Given the description of an element on the screen output the (x, y) to click on. 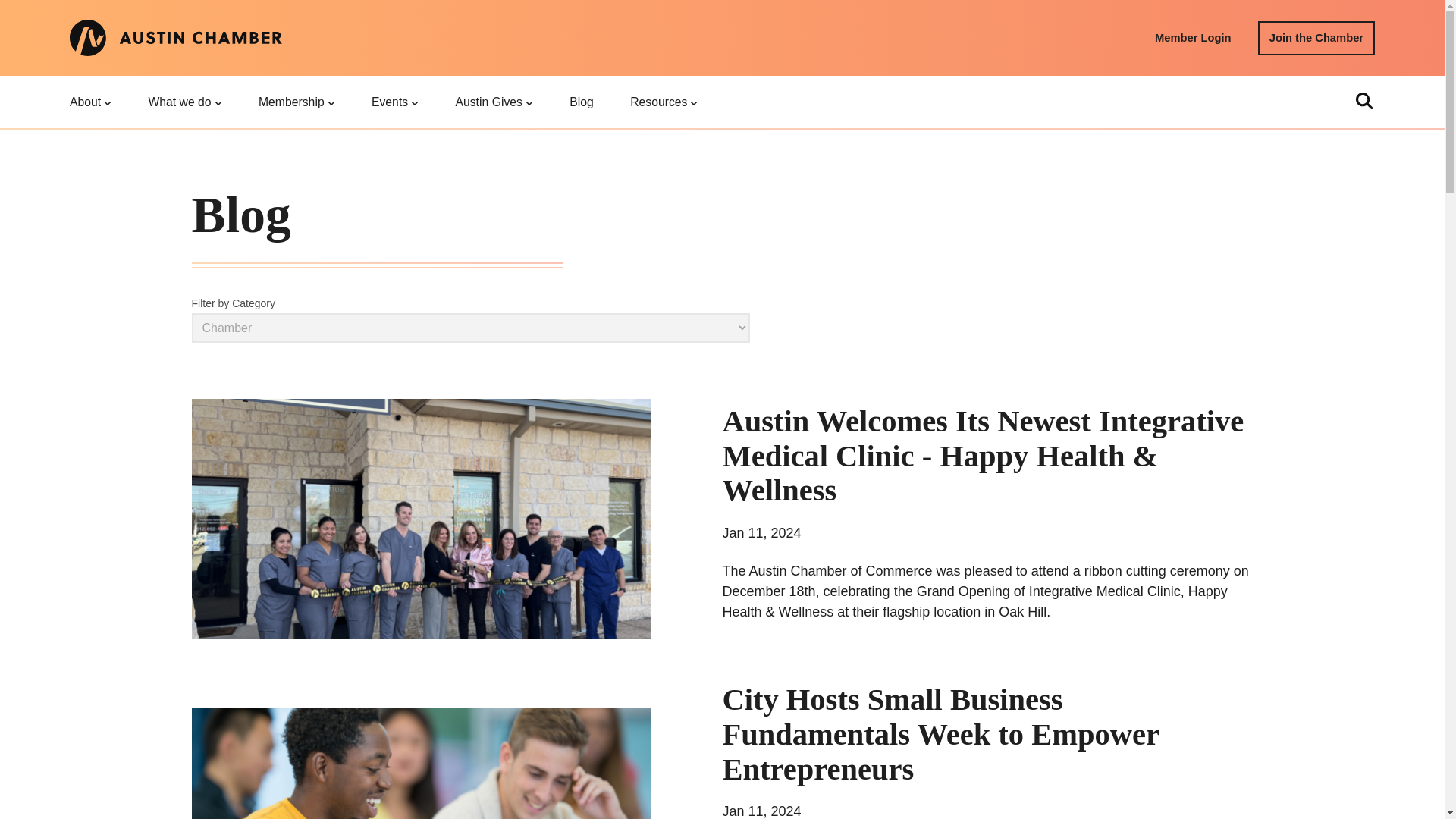
Blog (580, 101)
Submit (885, 411)
About (89, 101)
Austin Gives (493, 101)
Events (395, 101)
Member Login (1192, 38)
Join the Chamber (1315, 38)
Resources (663, 101)
What we do (184, 101)
Membership (296, 101)
